Given the description of an element on the screen output the (x, y) to click on. 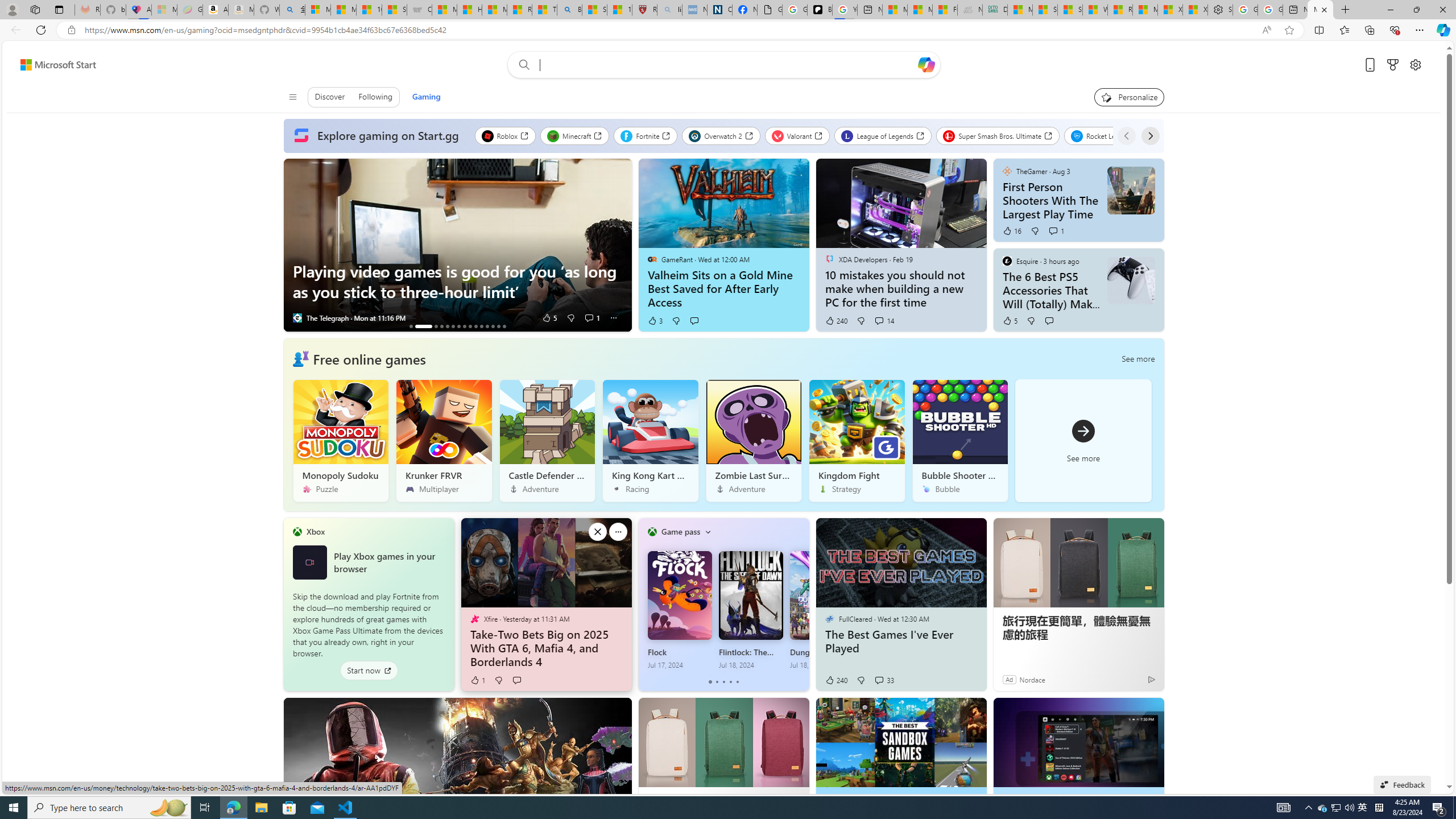
Bubble Shooter HD (960, 440)
Fortnite (645, 135)
R******* | Trusted Community Engagement and Contributions (1119, 9)
Krunker FRVR (444, 440)
Start the conversation (515, 680)
